Given the description of an element on the screen output the (x, y) to click on. 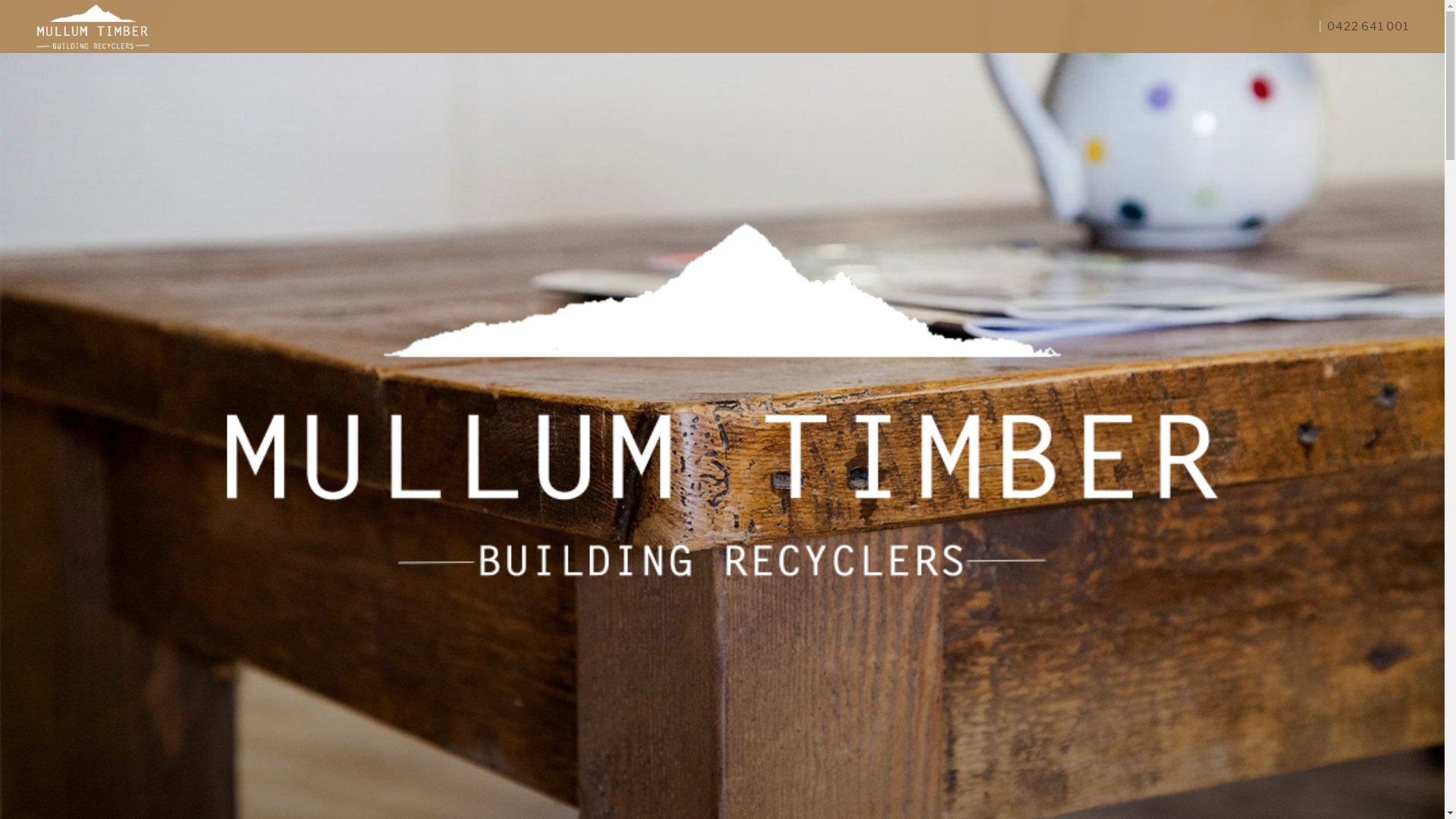
0422 641 001 Element type: text (1364, 26)
